Given the description of an element on the screen output the (x, y) to click on. 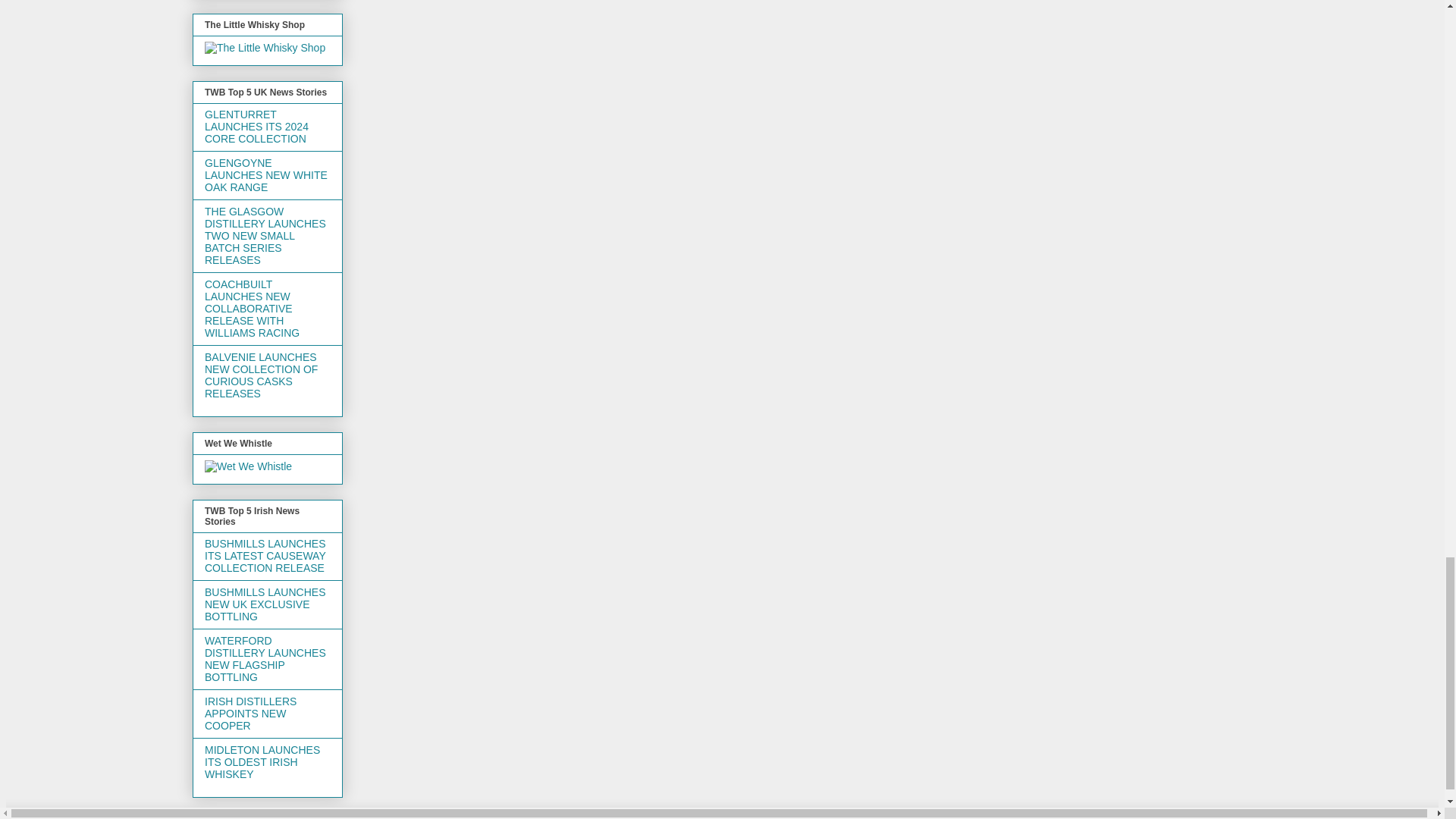
BALVENIE LAUNCHES NEW COLLECTION OF CURIOUS CASKS RELEASES (261, 375)
MIDLETON LAUNCHES ITS OLDEST IRISH WHISKEY (262, 761)
GLENGOYNE LAUNCHES NEW WHITE OAK RANGE (266, 175)
IRISH DISTILLERS APPOINTS NEW COOPER (251, 713)
BUSHMILLS LAUNCHES ITS LATEST CAUSEWAY COLLECTION RELEASE (265, 555)
WATERFORD DISTILLERY LAUNCHES NEW FLAGSHIP BOTTLING (265, 658)
BUSHMILLS LAUNCHES NEW UK EXCLUSIVE BOTTLING (265, 604)
GLENTURRET LAUNCHES ITS 2024 CORE COLLECTION (256, 126)
